Given the description of an element on the screen output the (x, y) to click on. 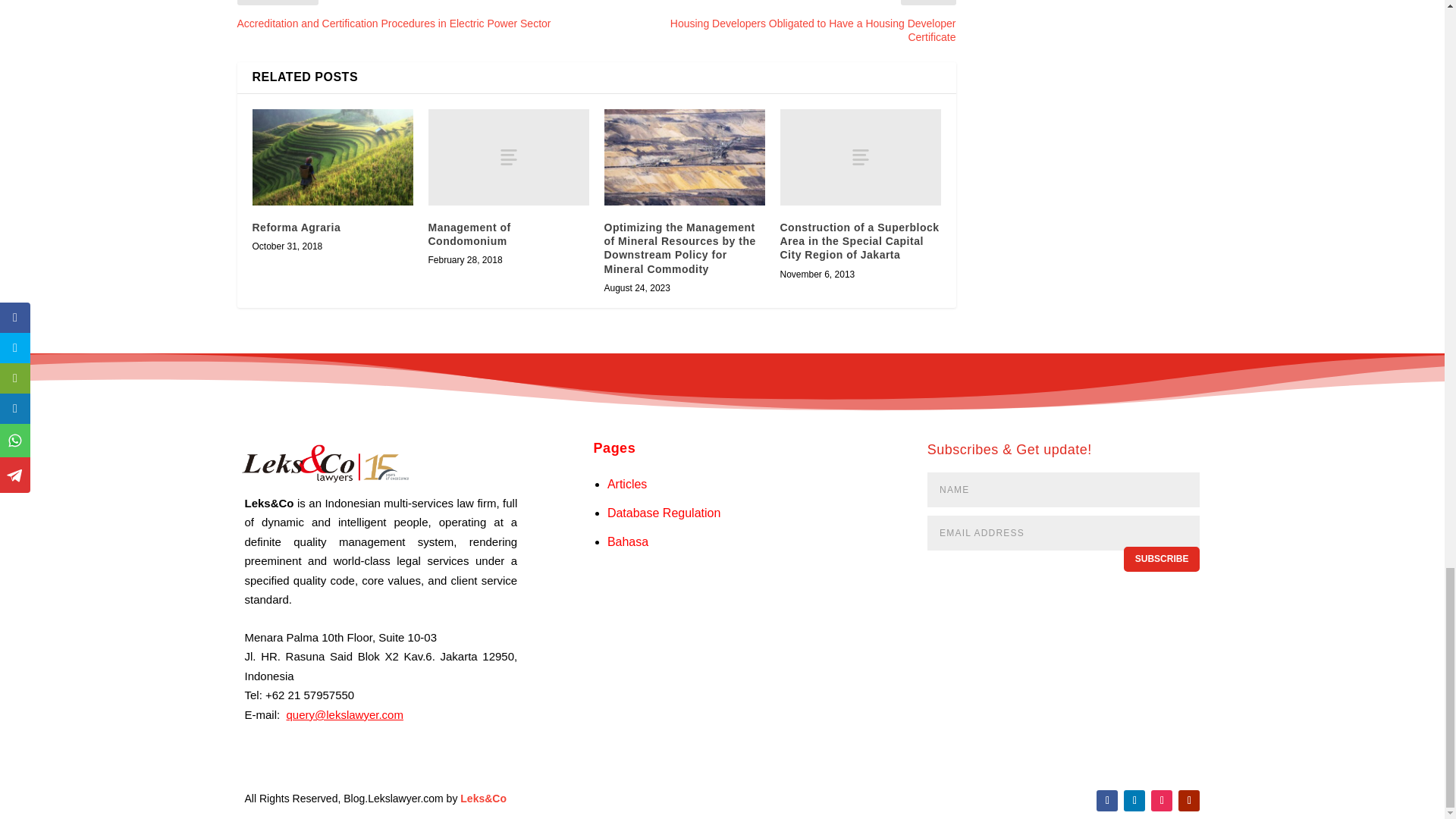
Follow on Facebook (1107, 800)
Management of Condomonium (508, 156)
Follow on Instagram (1161, 800)
Reforma Agraria (331, 156)
LeksnCo 15th (321, 462)
Follow on LinkedIn (1134, 800)
